Given the description of an element on the screen output the (x, y) to click on. 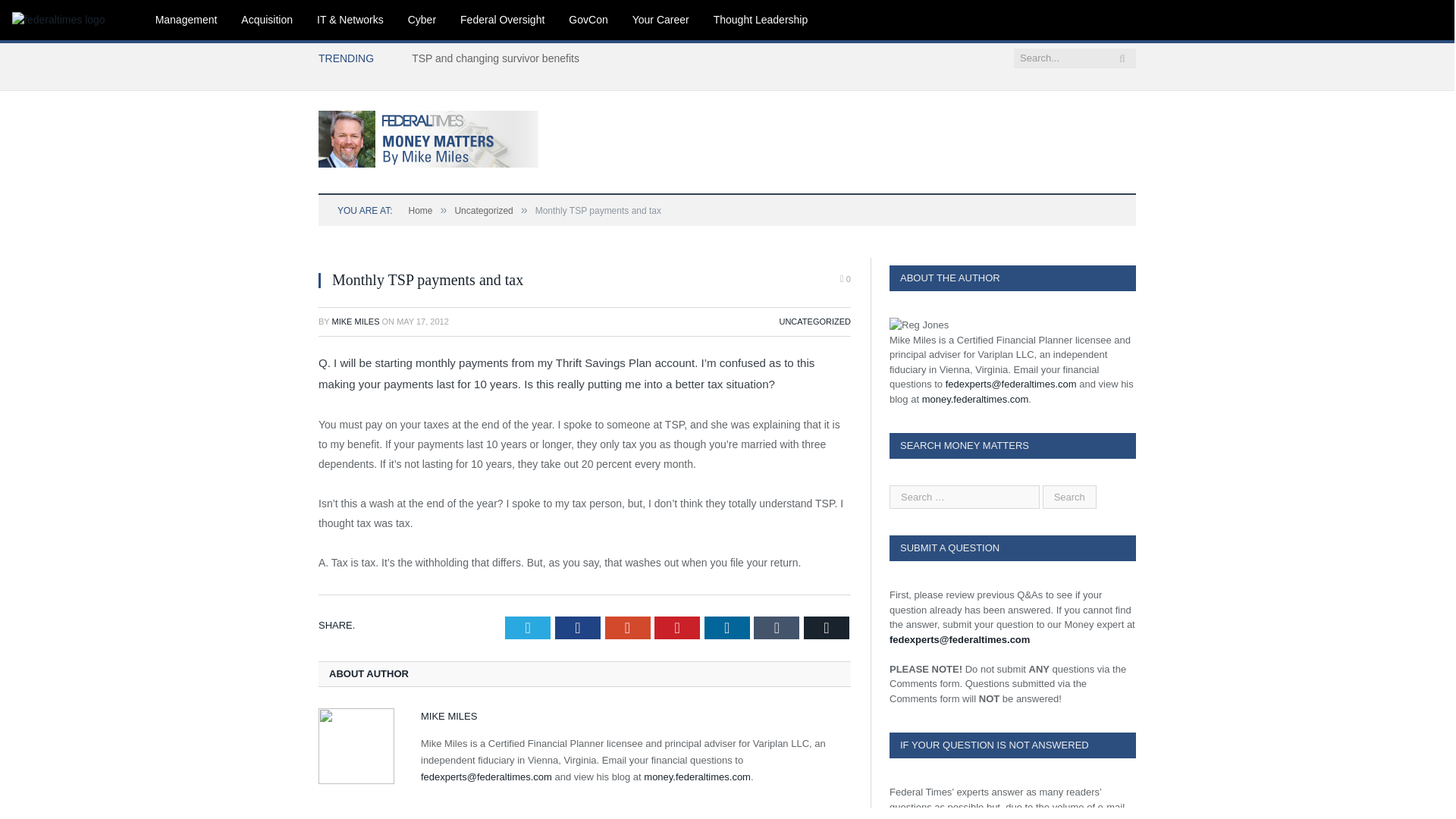
Share on Facebook (576, 627)
MIKE MILES (355, 320)
Search (1069, 496)
LinkedIn (726, 627)
Tweet It (527, 627)
Cyber (422, 19)
Posts by Mike Miles (355, 320)
Your Career (660, 19)
Federal Oversight (502, 19)
UNCATEGORIZED (814, 320)
